Given the description of an element on the screen output the (x, y) to click on. 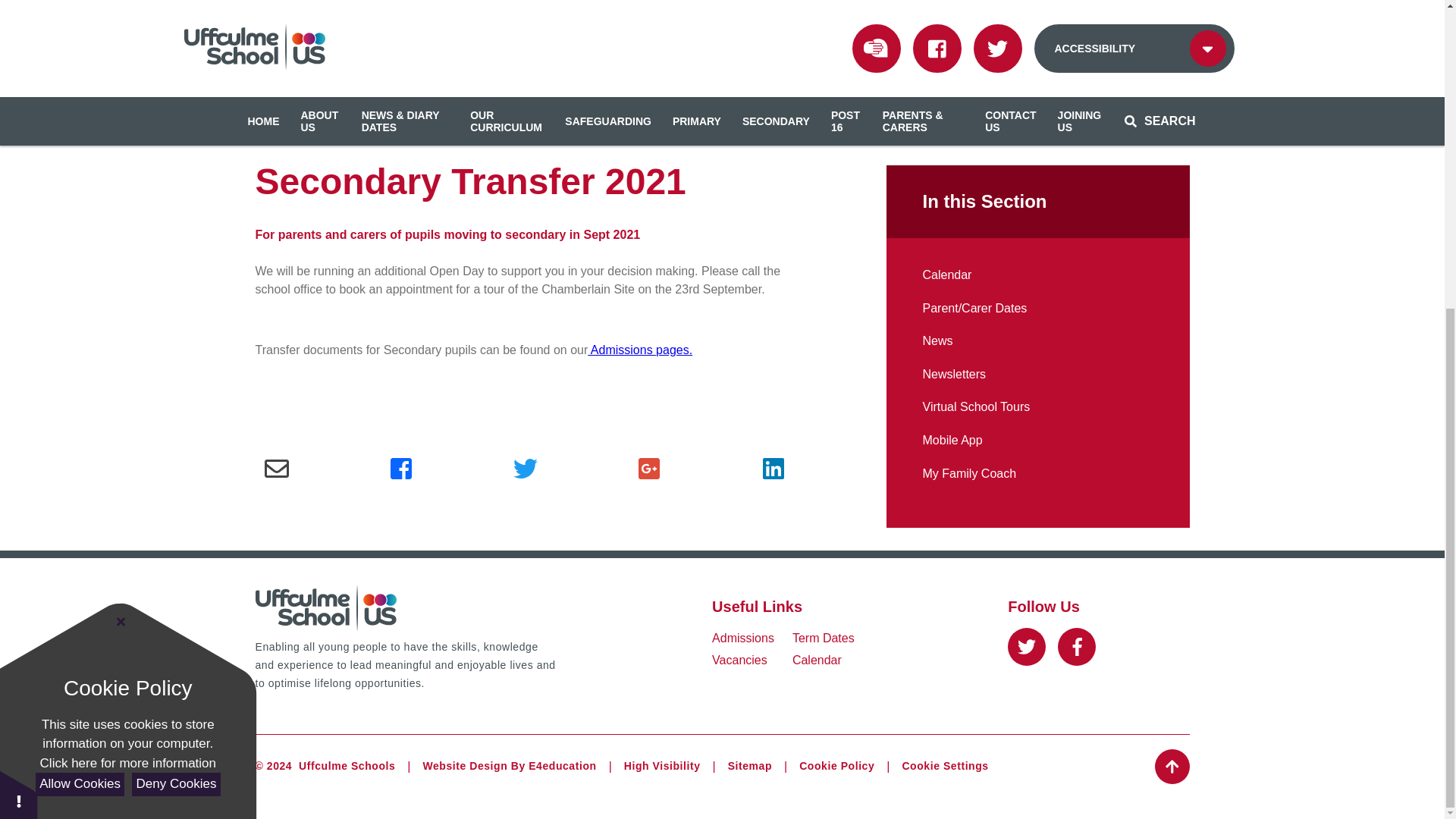
Allow Cookies (78, 295)
Cookie Settings (944, 766)
Deny Cookies (175, 295)
See cookie policy (127, 275)
